Given the description of an element on the screen output the (x, y) to click on. 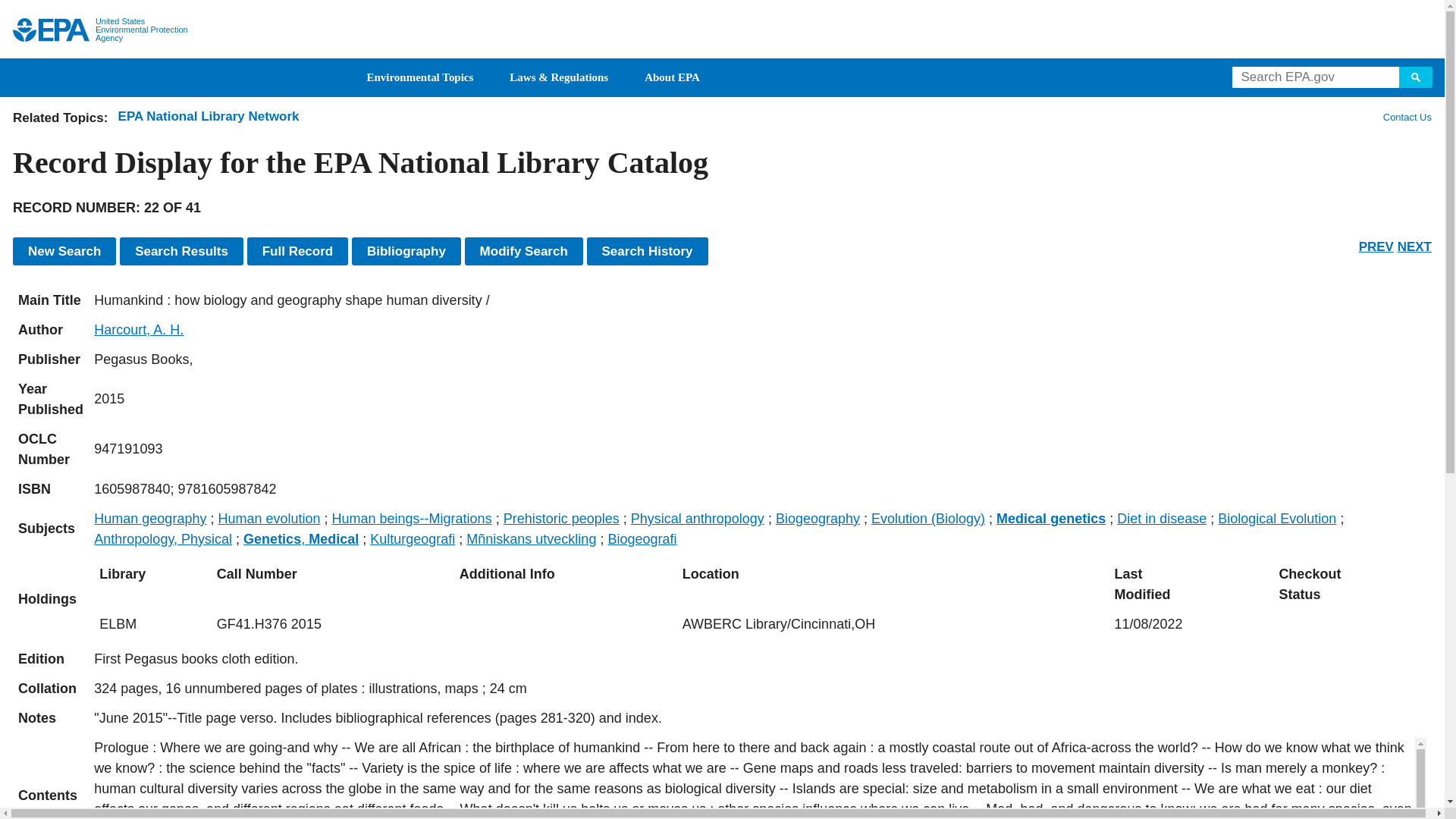
EPA National Library Network (208, 115)
Display Full Record (298, 251)
Modify the existing search criteria (523, 251)
Jump to main content (723, 9)
Go to the home page (50, 29)
Show results in standard format (181, 251)
Show results in bibliographic format (406, 251)
Full Record (298, 251)
PREV (1375, 246)
